Given the description of an element on the screen output the (x, y) to click on. 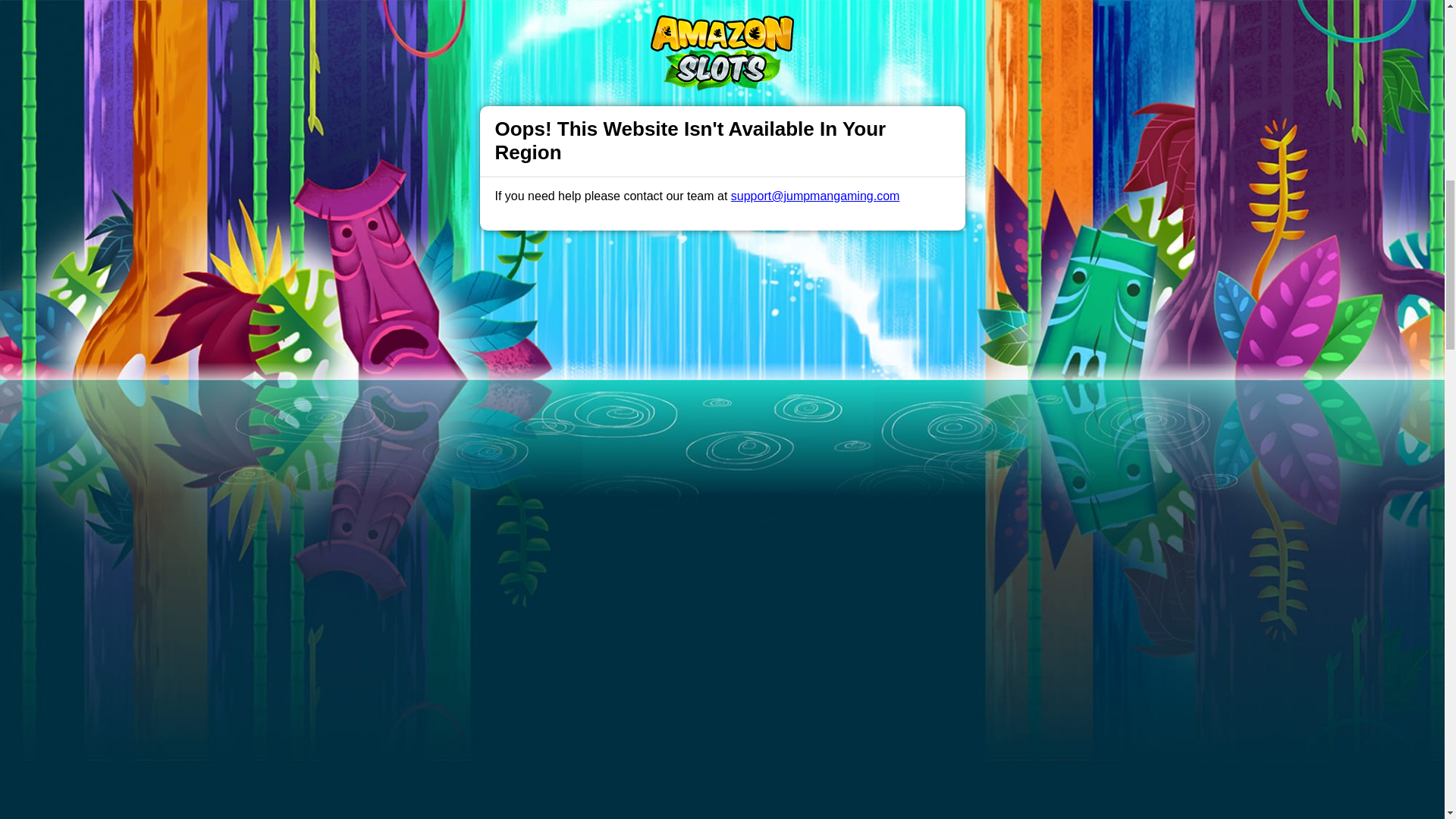
online casino games (493, 354)
Solar Nova (566, 382)
online slots (779, 368)
online casino games (493, 354)
Solar Nova (566, 382)
online slots (779, 368)
